Given the description of an element on the screen output the (x, y) to click on. 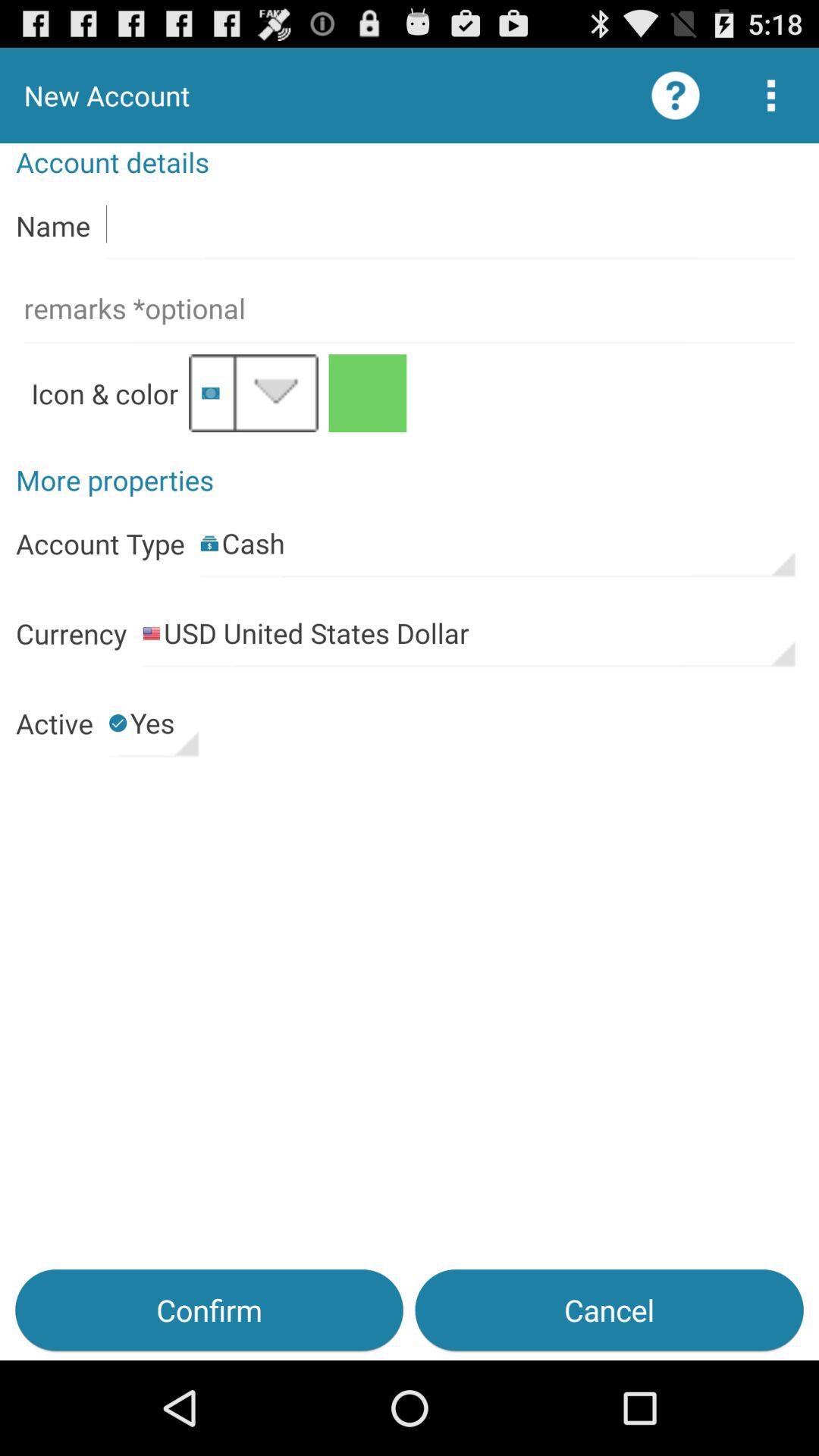
is requesting for remarks (409, 309)
